Given the description of an element on the screen output the (x, y) to click on. 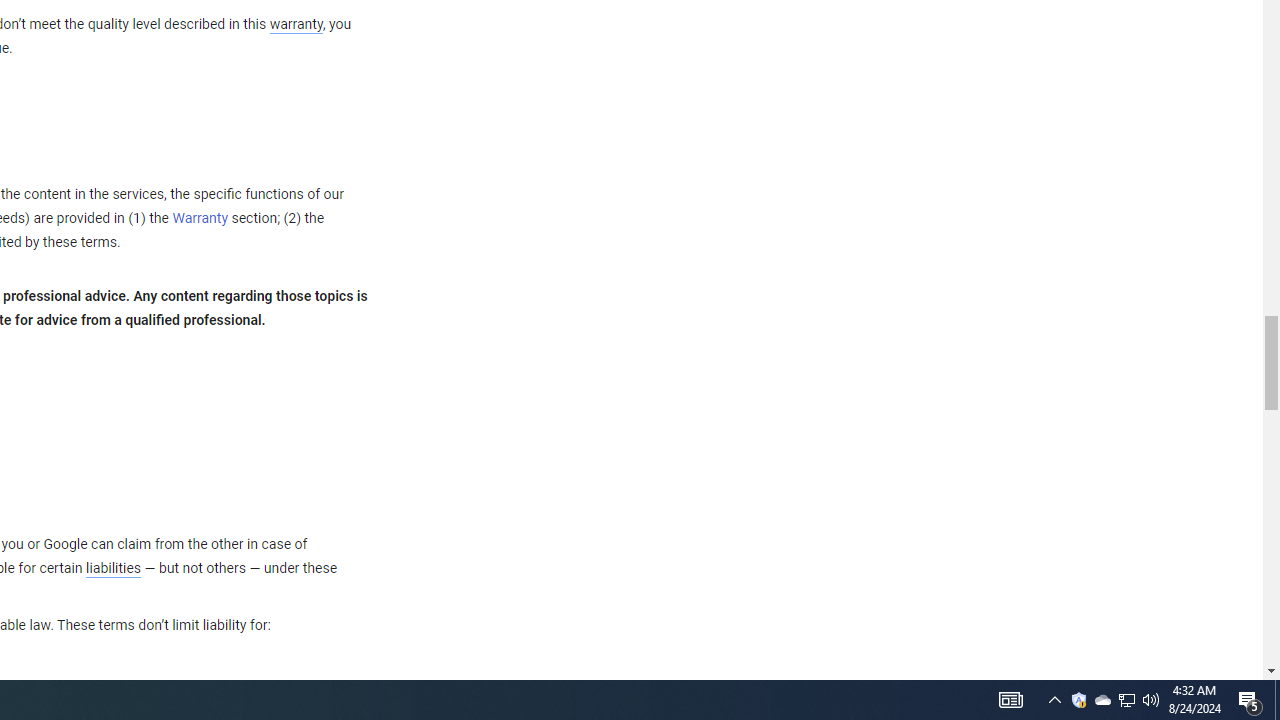
Warranty (200, 219)
warranty (295, 25)
liabilities (113, 568)
